Given the description of an element on the screen output the (x, y) to click on. 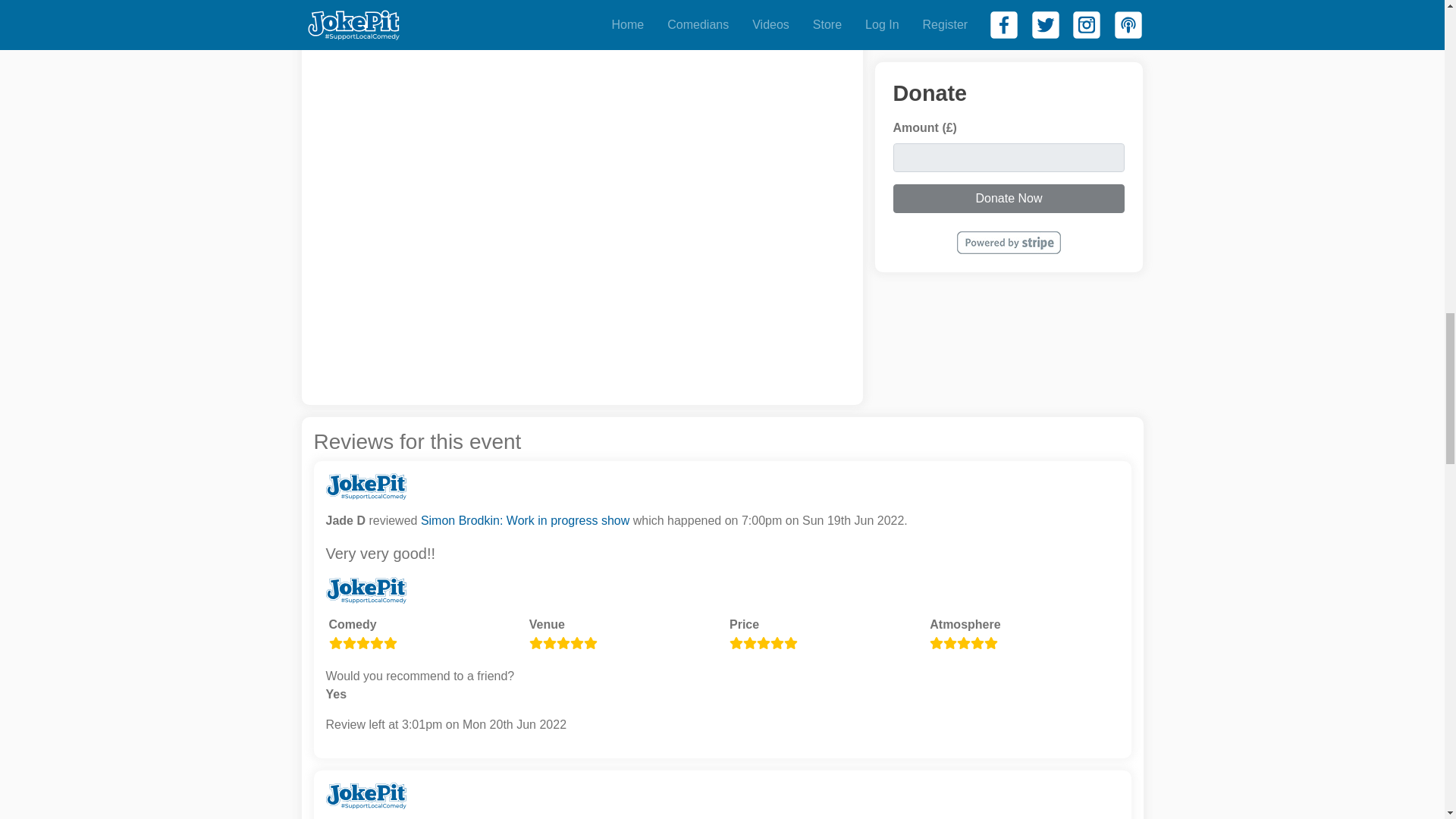
Simon Brodkin: Work in progress show (524, 520)
